Given the description of an element on the screen output the (x, y) to click on. 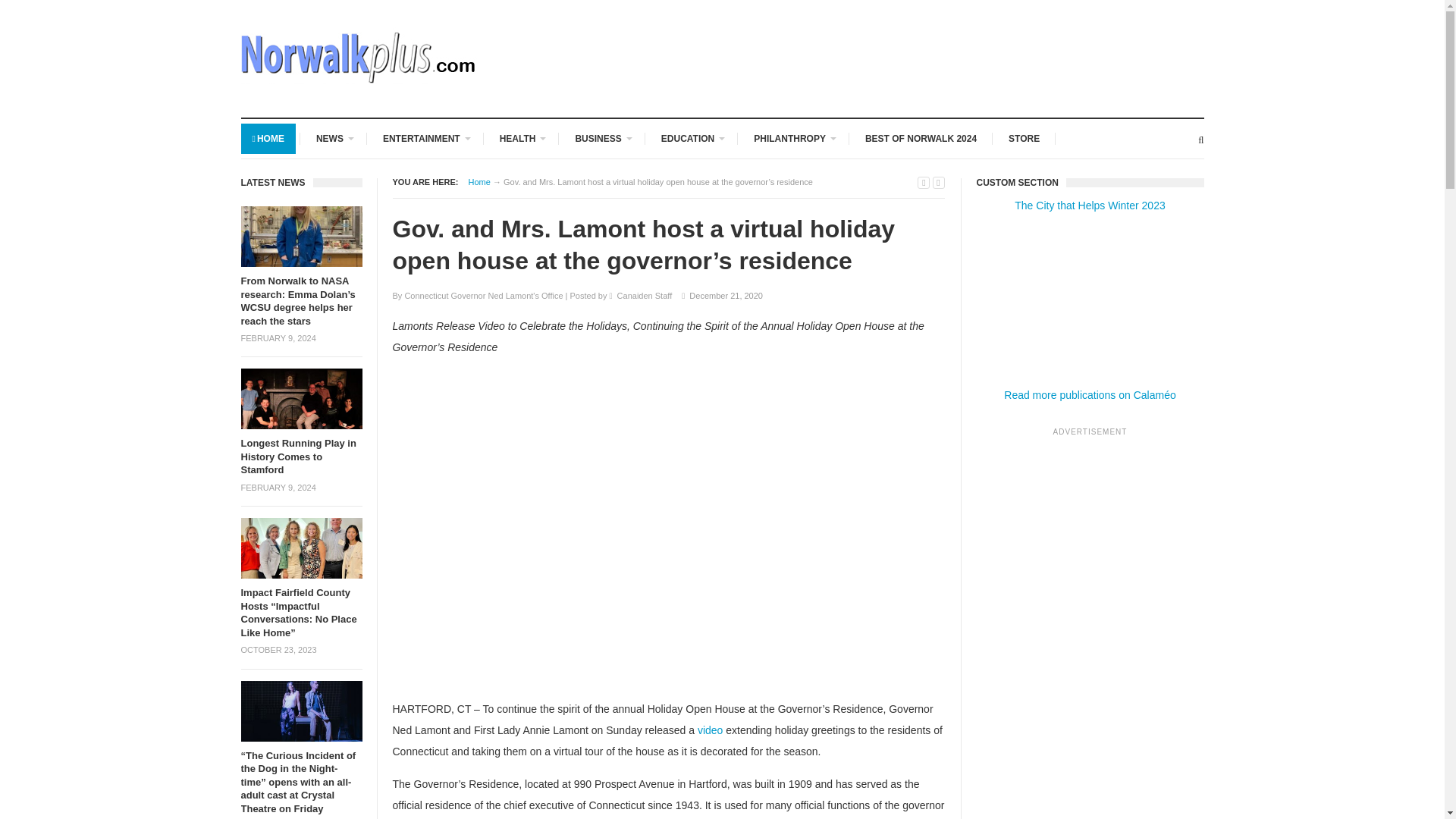
BUSINESS (601, 138)
EDUCATION (691, 138)
NorwalkPlus.com (479, 181)
Home (479, 181)
Canaiden Staff (644, 295)
PHILANTHROPY (793, 138)
ENTERTAINMENT (425, 138)
HOME (268, 138)
Monday, December 21, 2020, 5:21 am (725, 295)
HEALTH (520, 138)
STORE (1024, 138)
BEST OF NORWALK 2024 (920, 138)
NEWS (333, 138)
